Given the description of an element on the screen output the (x, y) to click on. 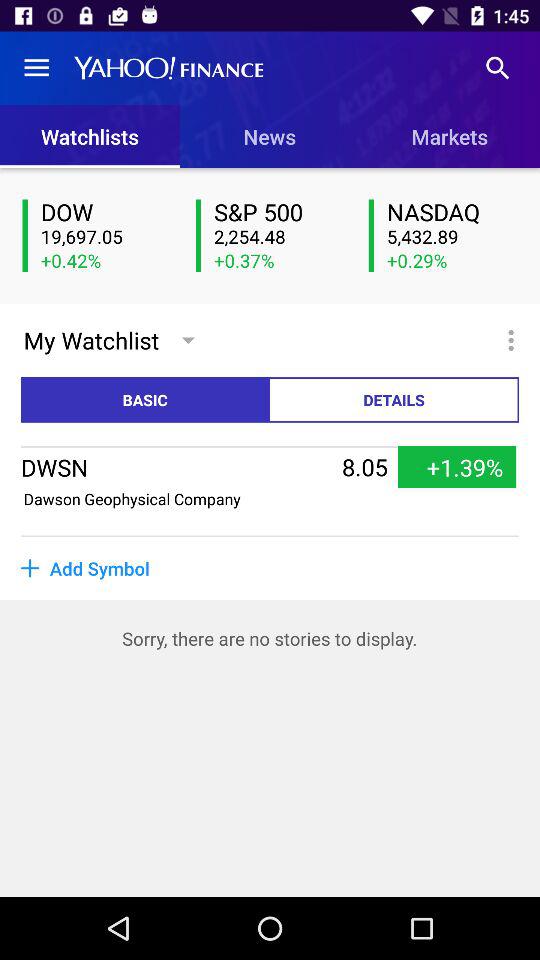
select icon above 19,697.05 item (105, 212)
